Given the description of an element on the screen output the (x, y) to click on. 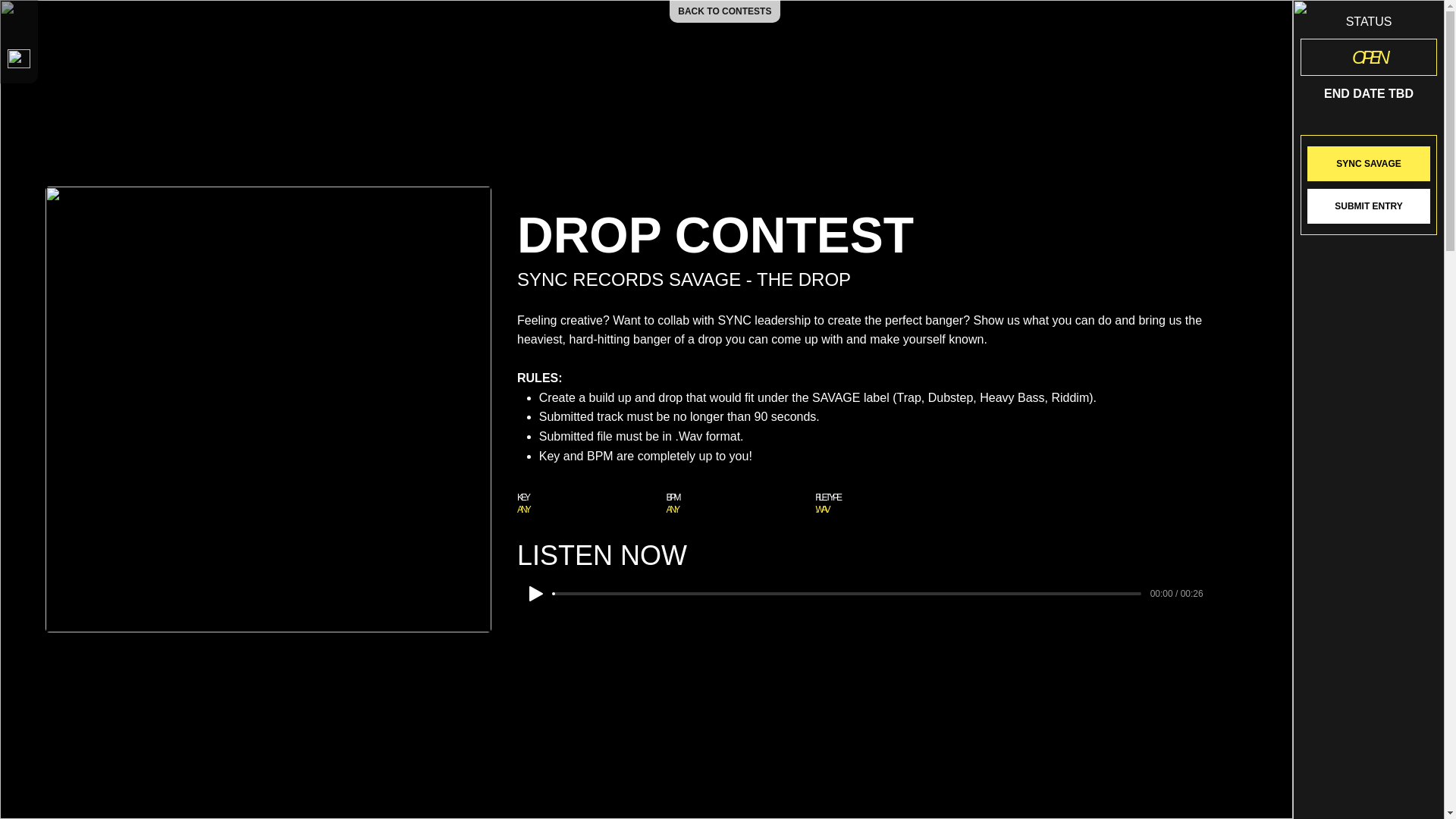
BACK TO CONTESTS (724, 11)
SYNC SAVAGE (1368, 163)
SUBMIT ENTRY (1368, 206)
0 (847, 593)
